Given the description of an element on the screen output the (x, y) to click on. 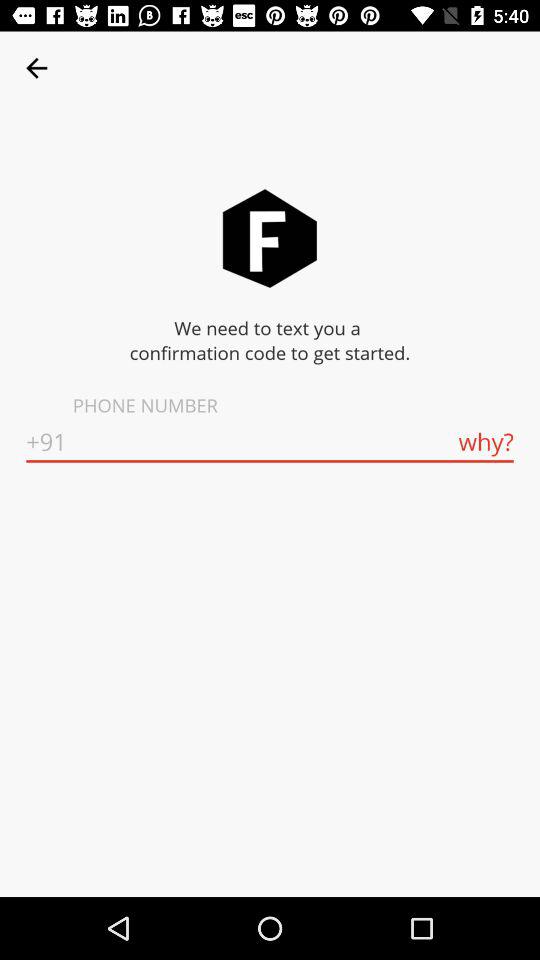
typing (270, 441)
